Given the description of an element on the screen output the (x, y) to click on. 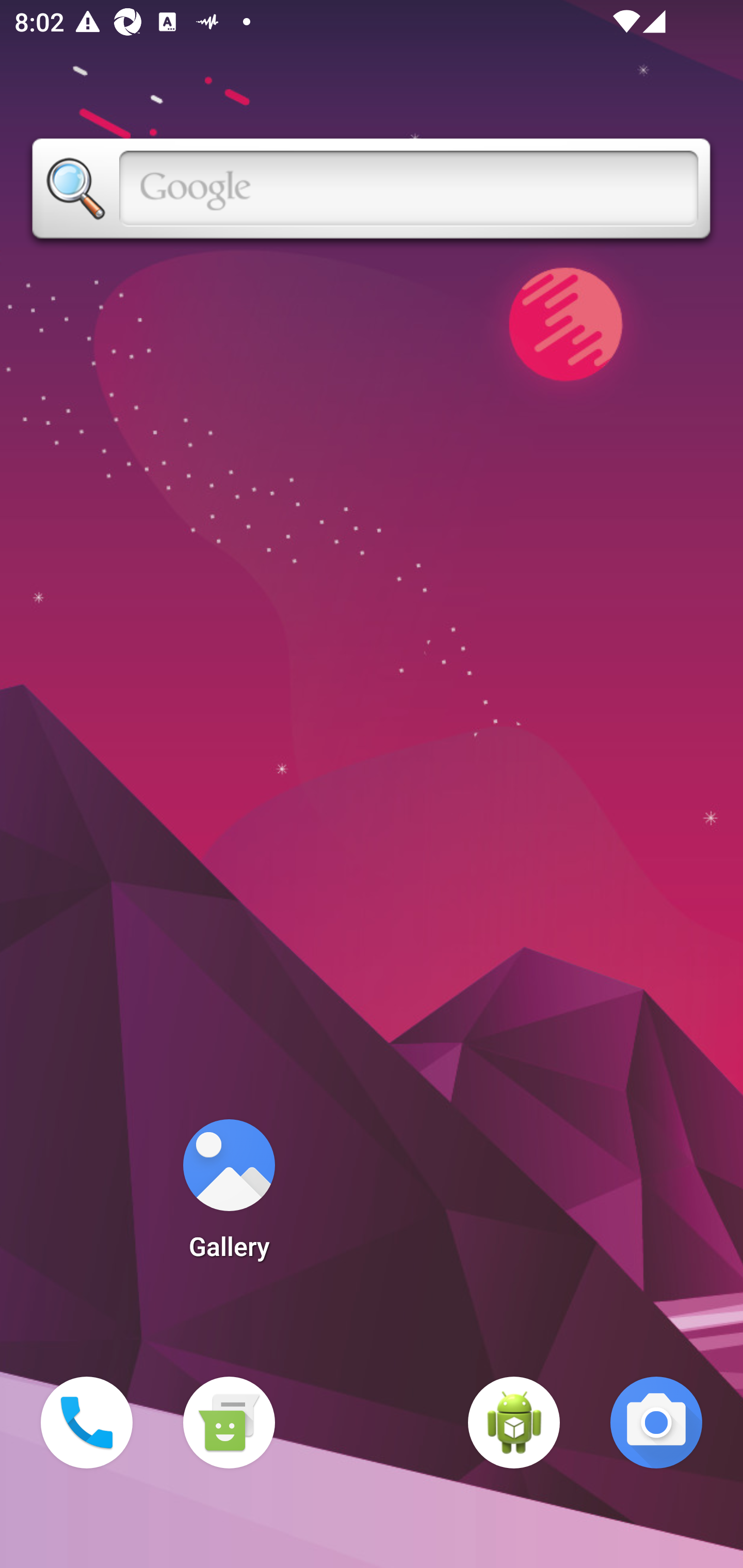
Gallery (228, 1195)
Phone (86, 1422)
Messaging (228, 1422)
WebView Browser Tester (513, 1422)
Camera (656, 1422)
